Given the description of an element on the screen output the (x, y) to click on. 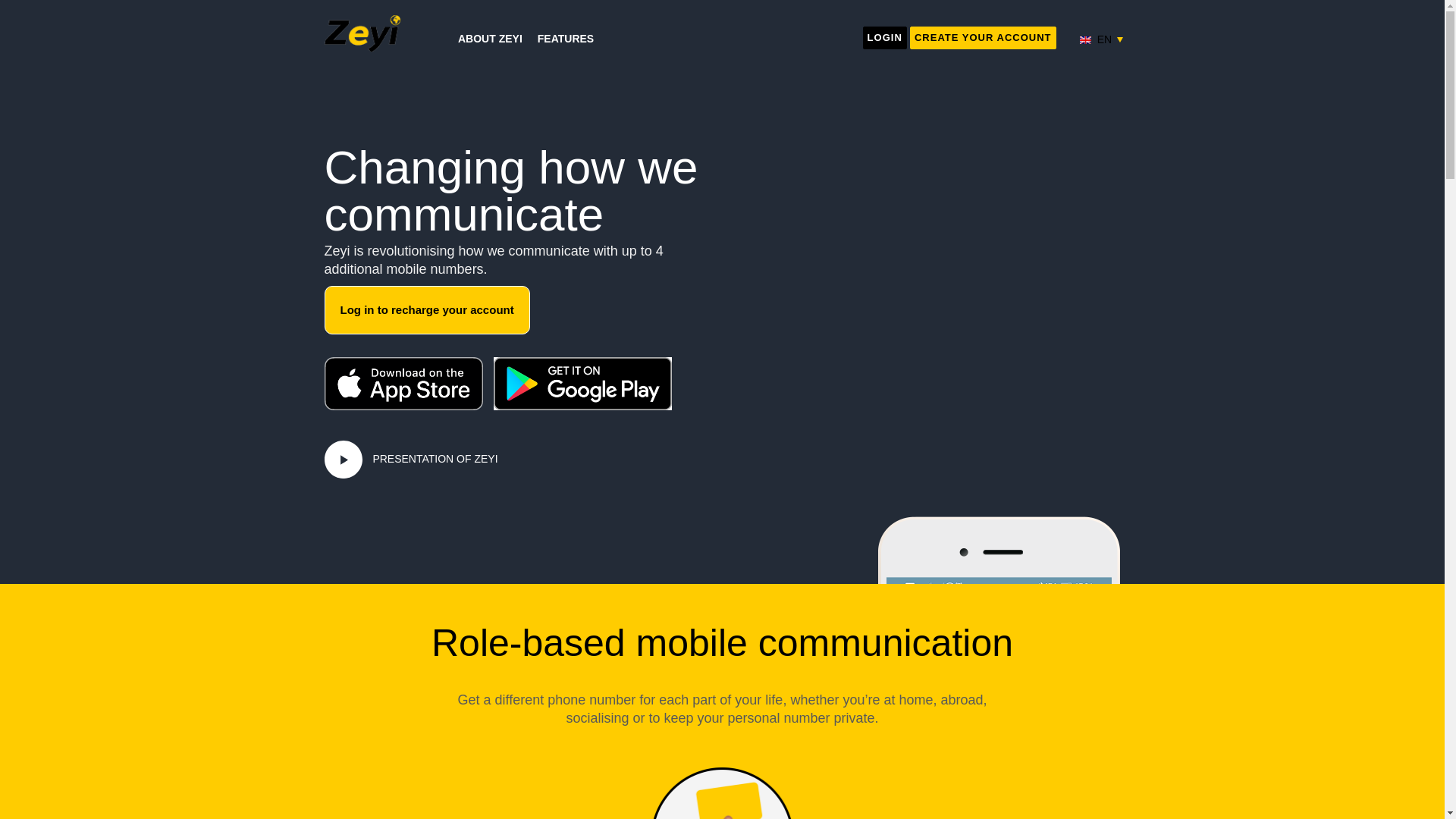
CREATE YOUR ACCOUNT (983, 37)
ABOUT ZEYI (489, 38)
FEATURES (565, 38)
LOGIN (885, 37)
Log in to recharge your account (426, 309)
